Given the description of an element on the screen output the (x, y) to click on. 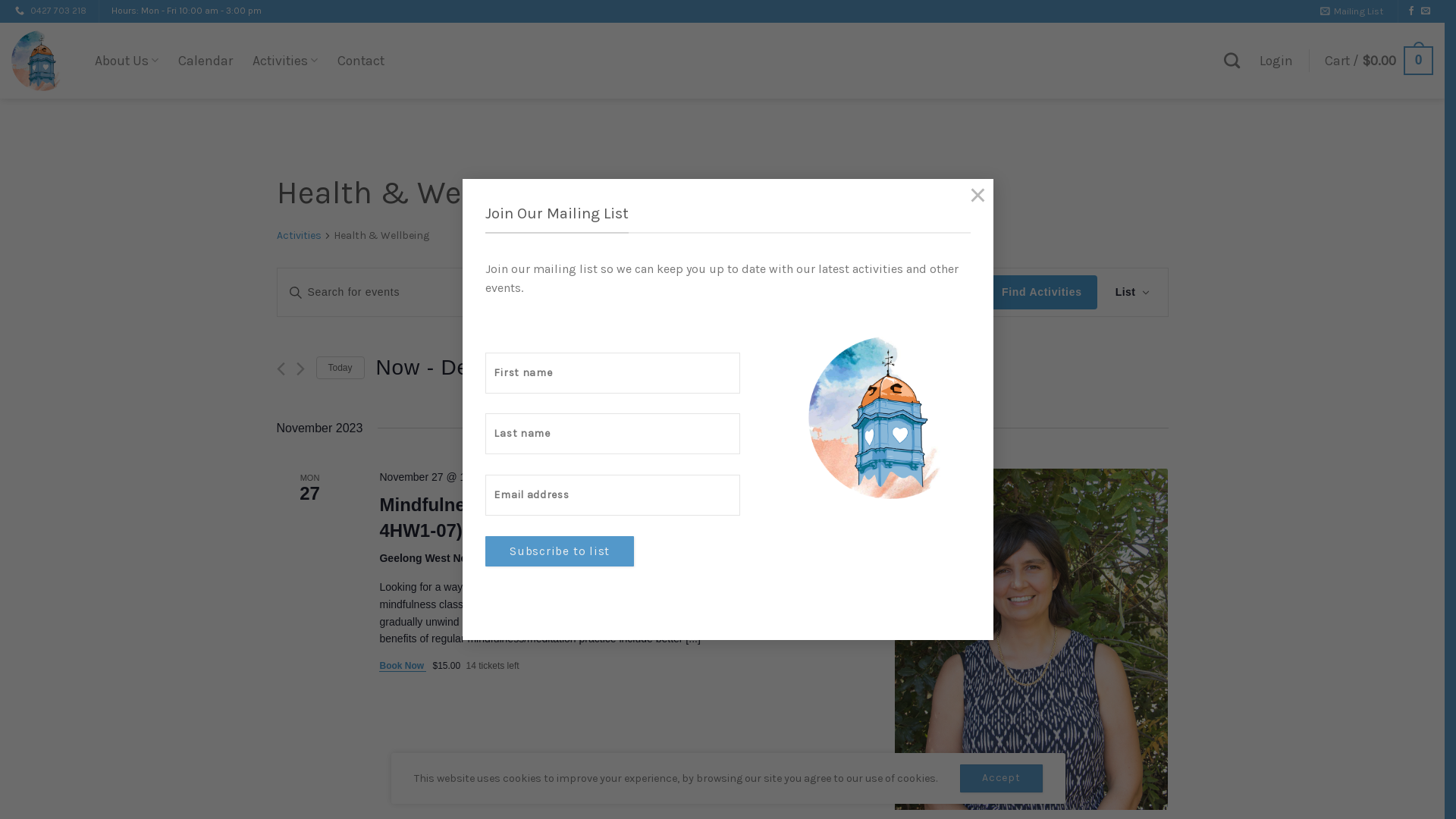
Mailing List Element type: text (1351, 11)
Send us an email Element type: hover (1425, 11)
Subscribe to list Element type: text (559, 551)
Today Element type: text (339, 367)
Book Now Element type: text (402, 665)
Calendar Element type: text (205, 60)
0427 703 218 Element type: text (58, 10)
Contact Element type: text (360, 60)
Now
 - 
December 8 Element type: text (476, 367)
Cart / $0.00
0 Element type: text (1378, 60)
List Element type: text (1132, 292)
Follow on Facebook Element type: hover (1410, 11)
Activities Element type: text (284, 60)
Mindfulness Meditation Day Session Week 07 (23-4HW1-07) Element type: hover (1030, 638)
Accept Element type: text (1000, 778)
Previous Activities Element type: hover (280, 368)
Next Activities Element type: hover (299, 368)
Activities Element type: text (298, 236)
About Us Element type: text (126, 60)
Find Activities Element type: text (1041, 292)
Mindfulness Meditation Day Session Week 07 (23-4HW1-07) Element type: text (594, 517)
Login Element type: text (1275, 60)
